Given the description of an element on the screen output the (x, y) to click on. 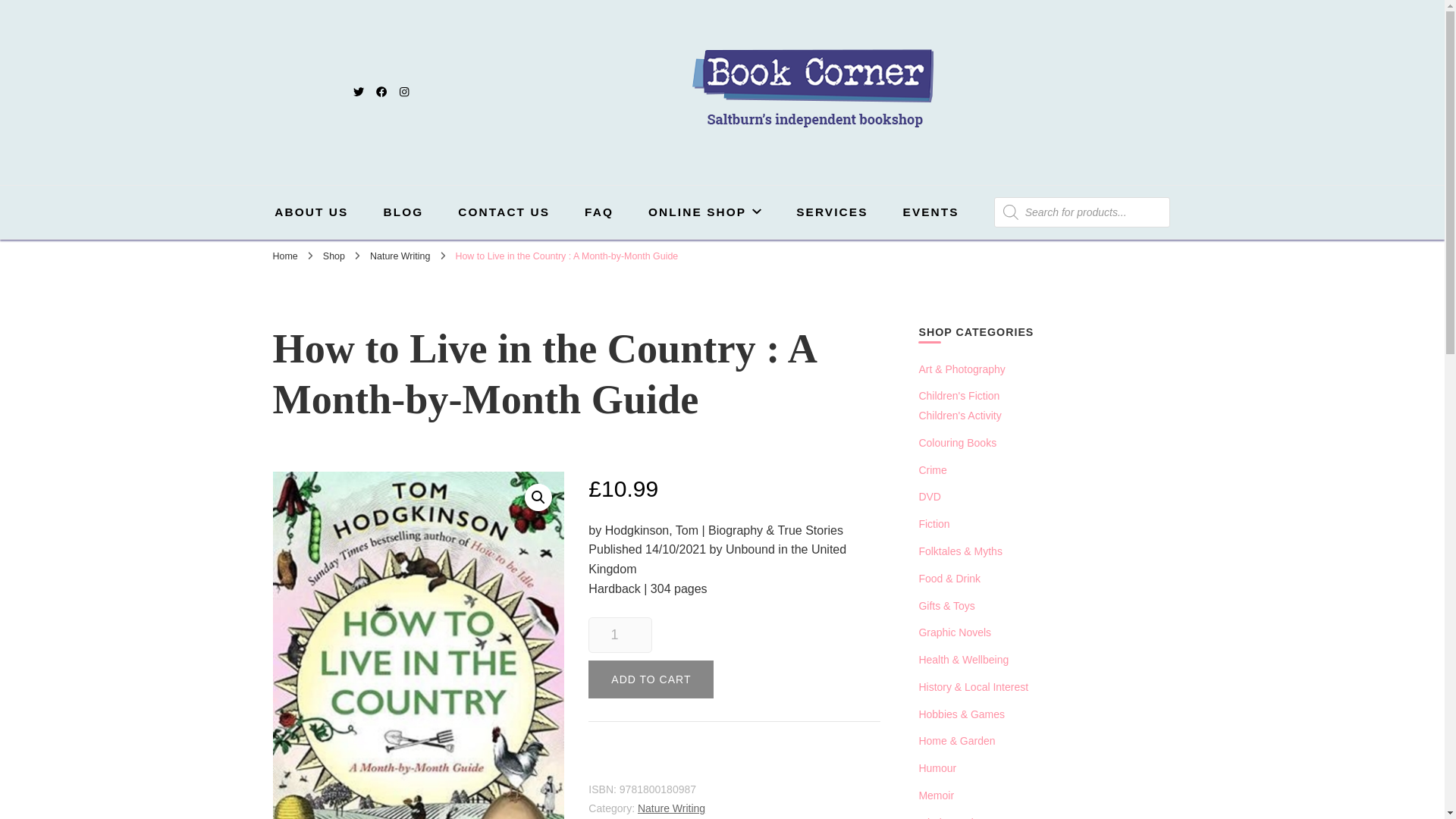
CONTACT US (504, 211)
9781800180987.jpg (418, 645)
Book Corner (600, 149)
ABOUT US (311, 211)
ONLINE SHOP (704, 211)
PayPal (734, 763)
1 (619, 634)
BLOG (402, 211)
FAQ (598, 211)
